Given the description of an element on the screen output the (x, y) to click on. 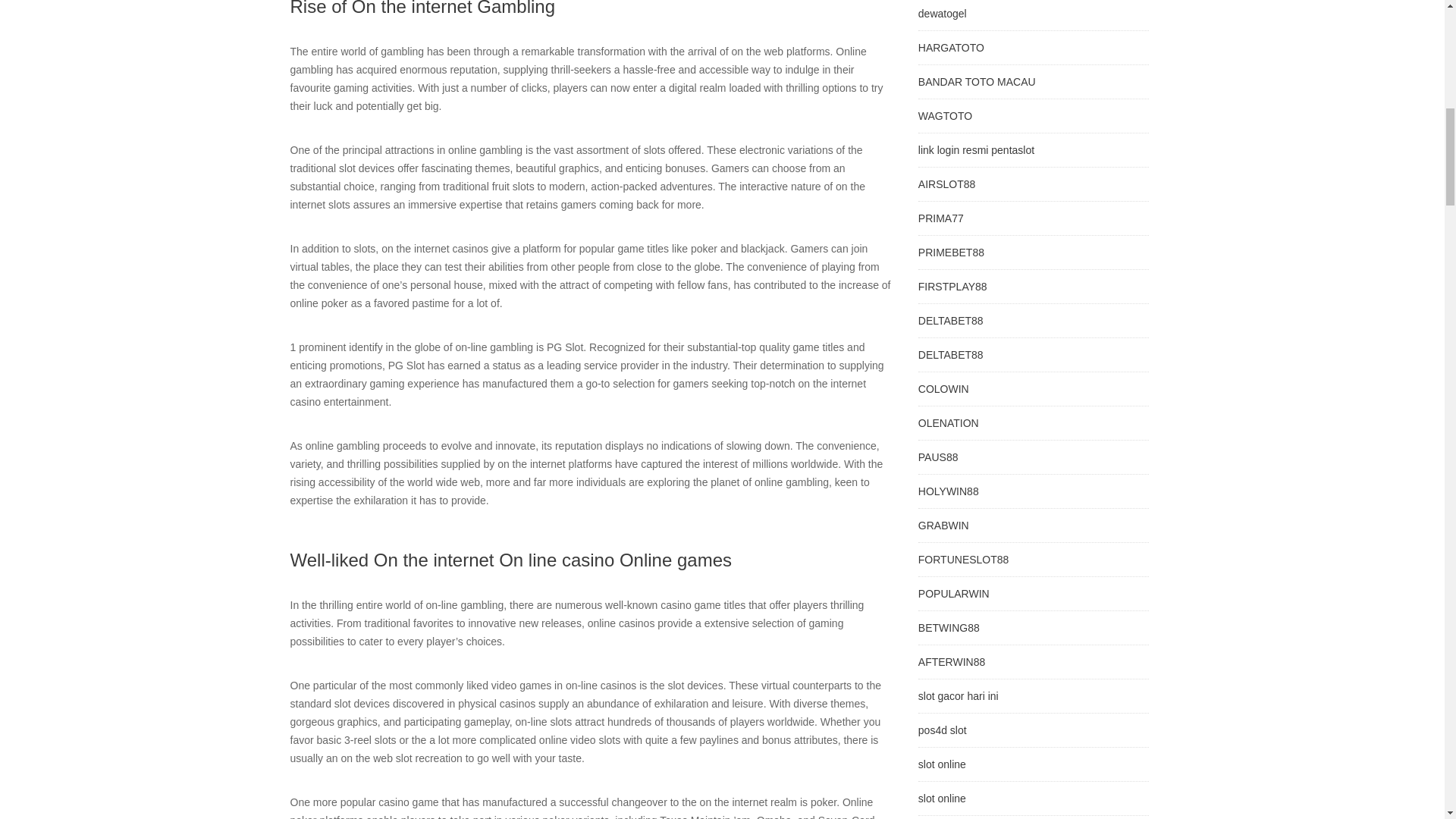
OLENATION (948, 422)
AIRSLOT88 (946, 184)
FIRSTPLAY88 (952, 286)
PAUS88 (938, 457)
PRIMEBET88 (951, 252)
BANDAR TOTO MACAU (976, 81)
DELTABET88 (951, 354)
DELTABET88 (951, 320)
WAGTOTO (945, 115)
COLOWIN (943, 388)
PRIMA77 (940, 218)
dewatogel (942, 13)
link login resmi pentaslot (975, 150)
HARGATOTO (951, 47)
